Given the description of an element on the screen output the (x, y) to click on. 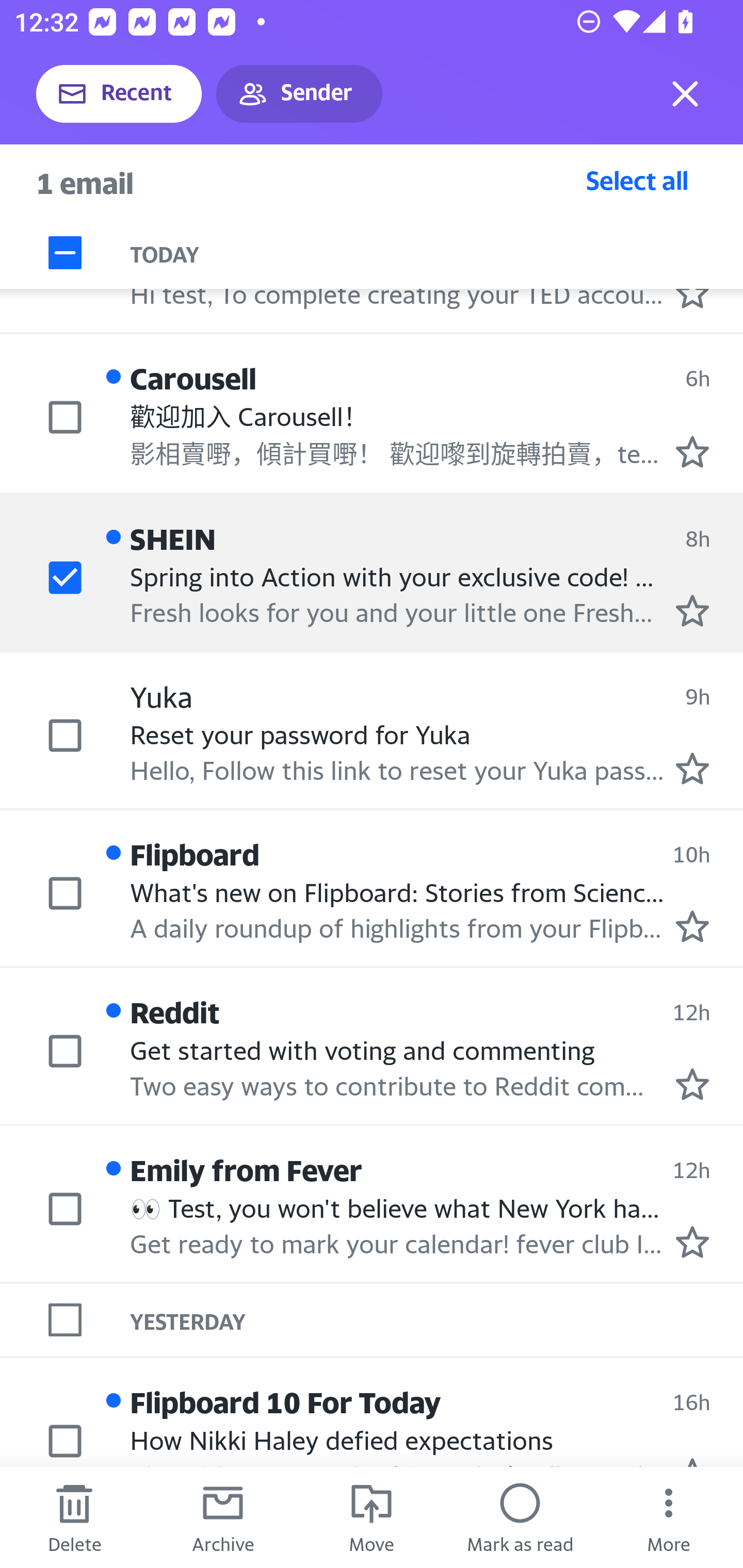
Sender (299, 93)
Exit selection mode (684, 93)
Select all (637, 180)
Mark as starred. (692, 452)
Mark as starred. (692, 610)
Mark as starred. (692, 769)
Mark as starred. (692, 925)
Mark as starred. (692, 1084)
Mark as starred. (692, 1242)
YESTERDAY (436, 1319)
Delete (74, 1517)
Archive (222, 1517)
Move (371, 1517)
Mark as read (519, 1517)
More (668, 1517)
